Given the description of an element on the screen output the (x, y) to click on. 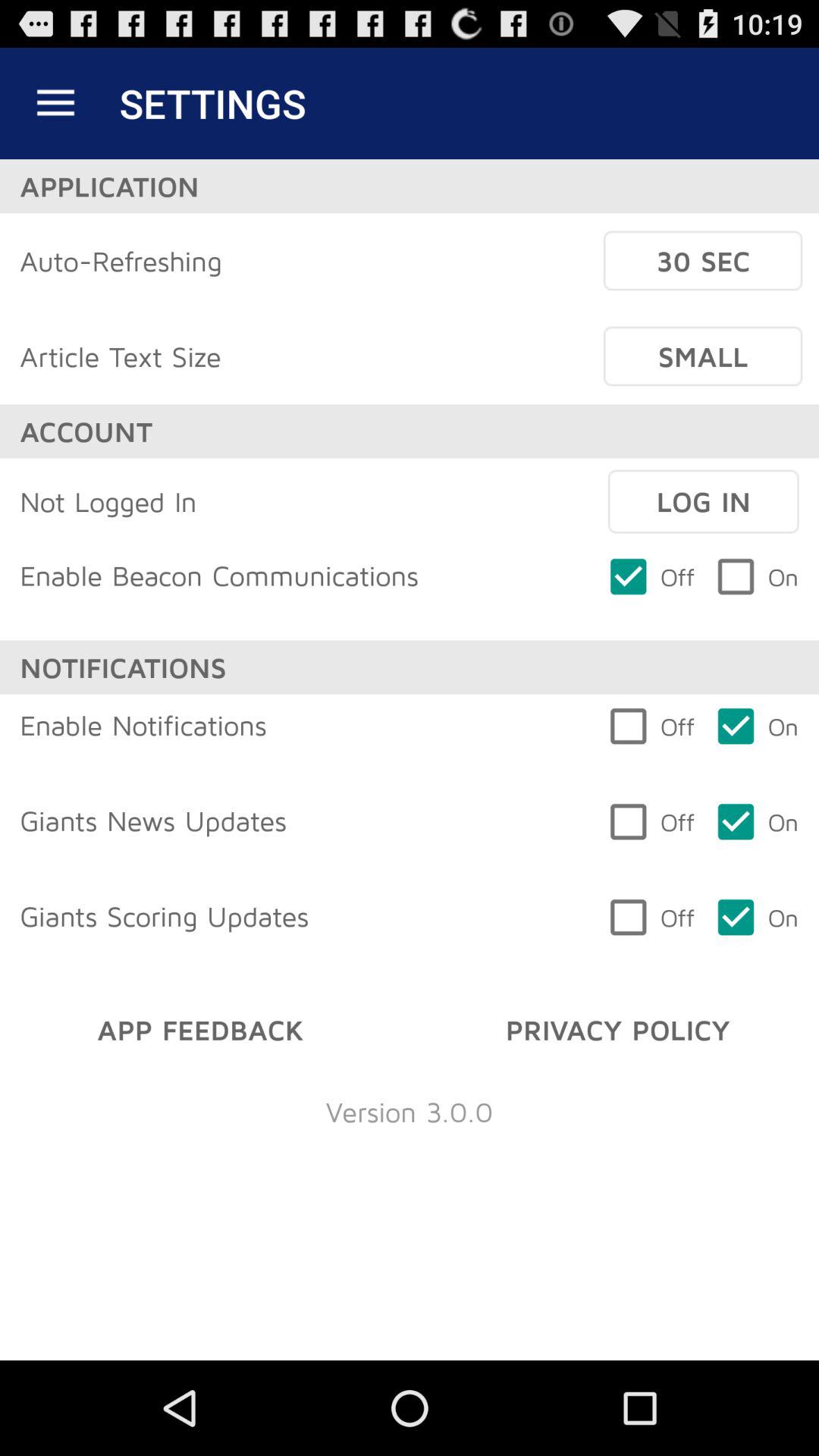
choose item to the right of not logged in item (703, 501)
